Given the description of an element on the screen output the (x, y) to click on. 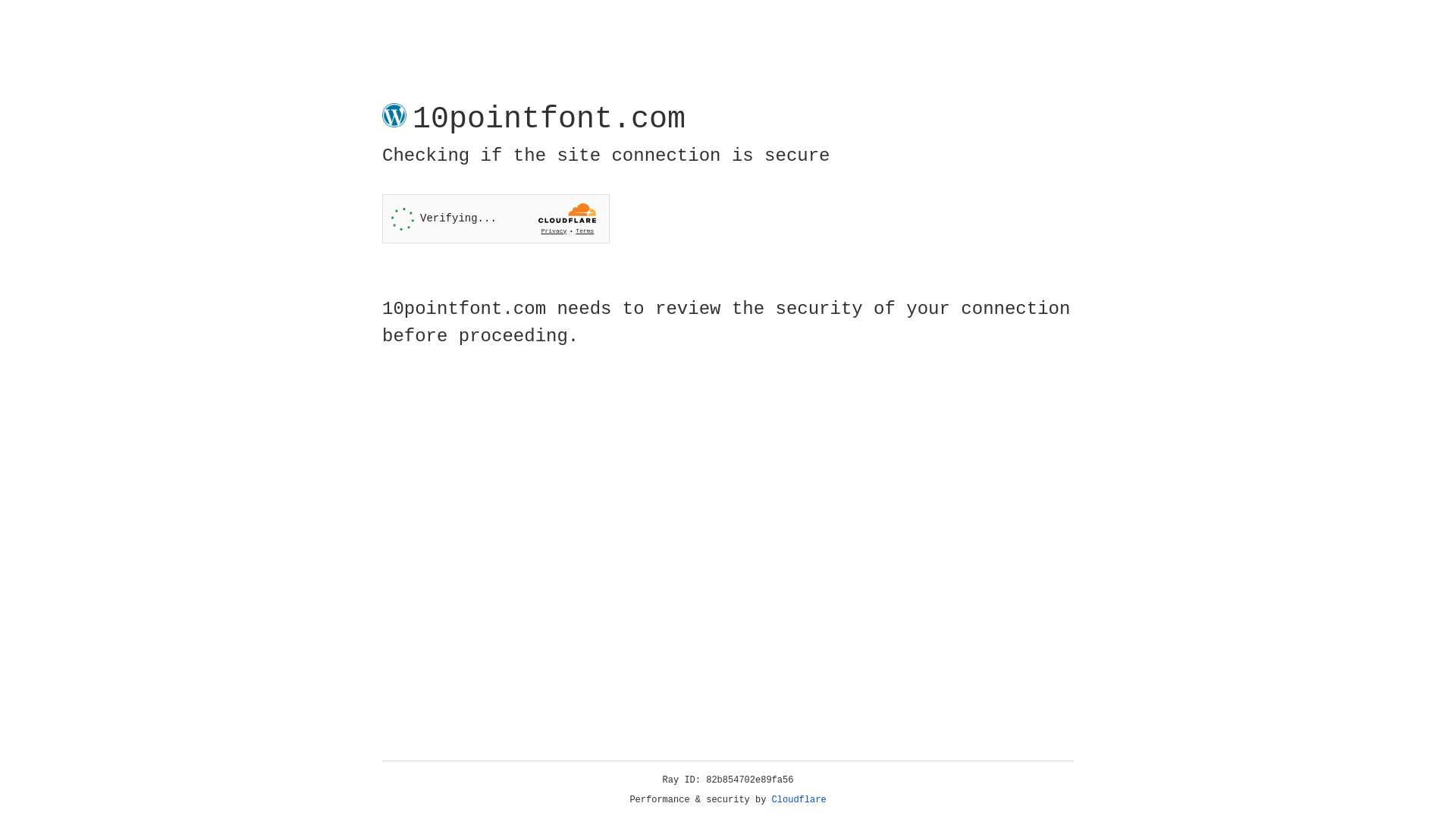
Widget containing a Cloudflare security challenge Element type: hover (495, 218)
Cloudflare Element type: text (798, 799)
